Given the description of an element on the screen output the (x, y) to click on. 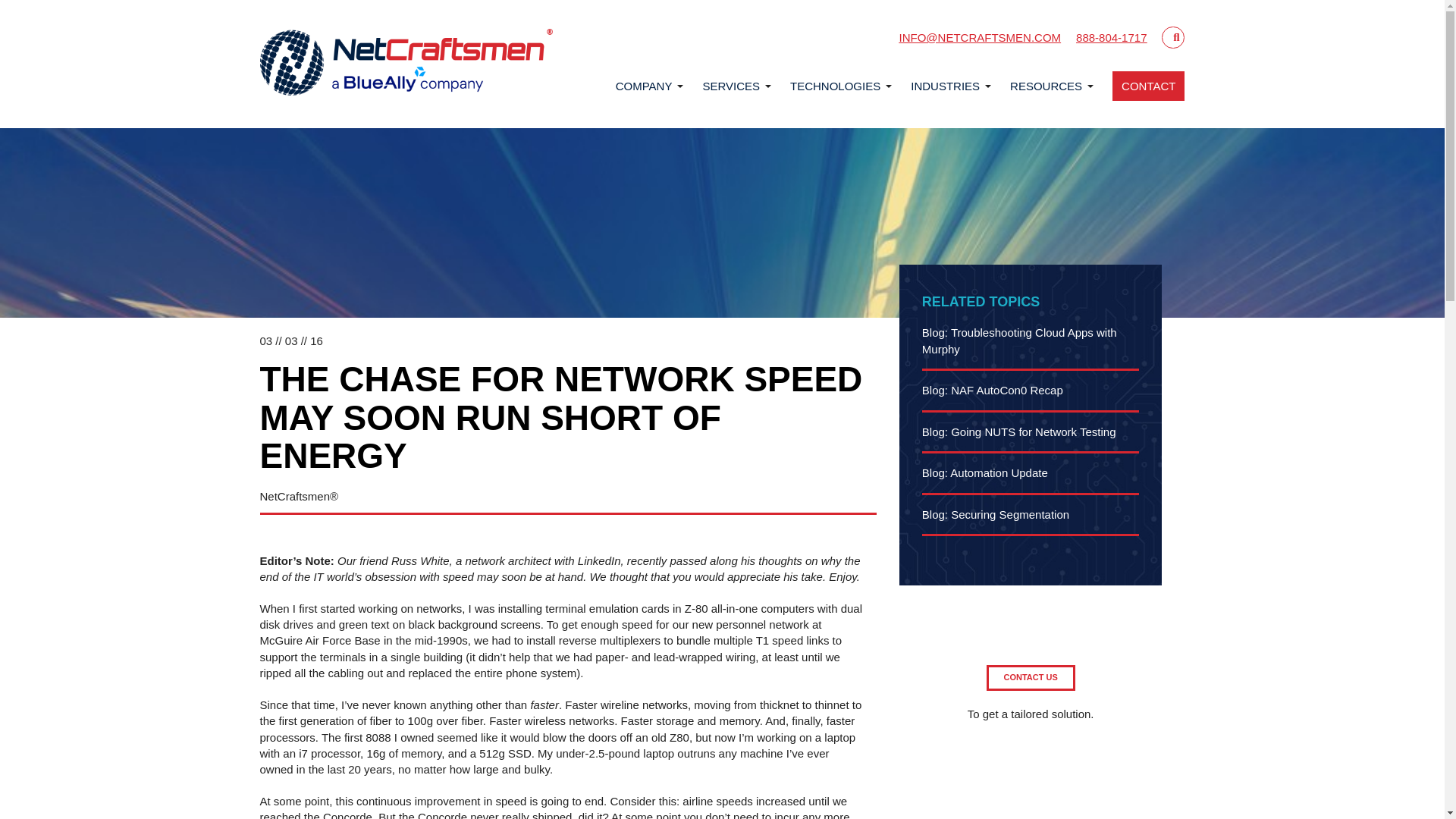
SERVICES (730, 85)
888-804-1717 (1111, 37)
COMPANY (643, 85)
INDUSTRIES (945, 85)
CONTACT (1148, 85)
RESOURCES (1045, 85)
NetCraftsmen, a BlueAlly Company (406, 63)
TECHNOLOGIES (835, 85)
